Given the description of an element on the screen output the (x, y) to click on. 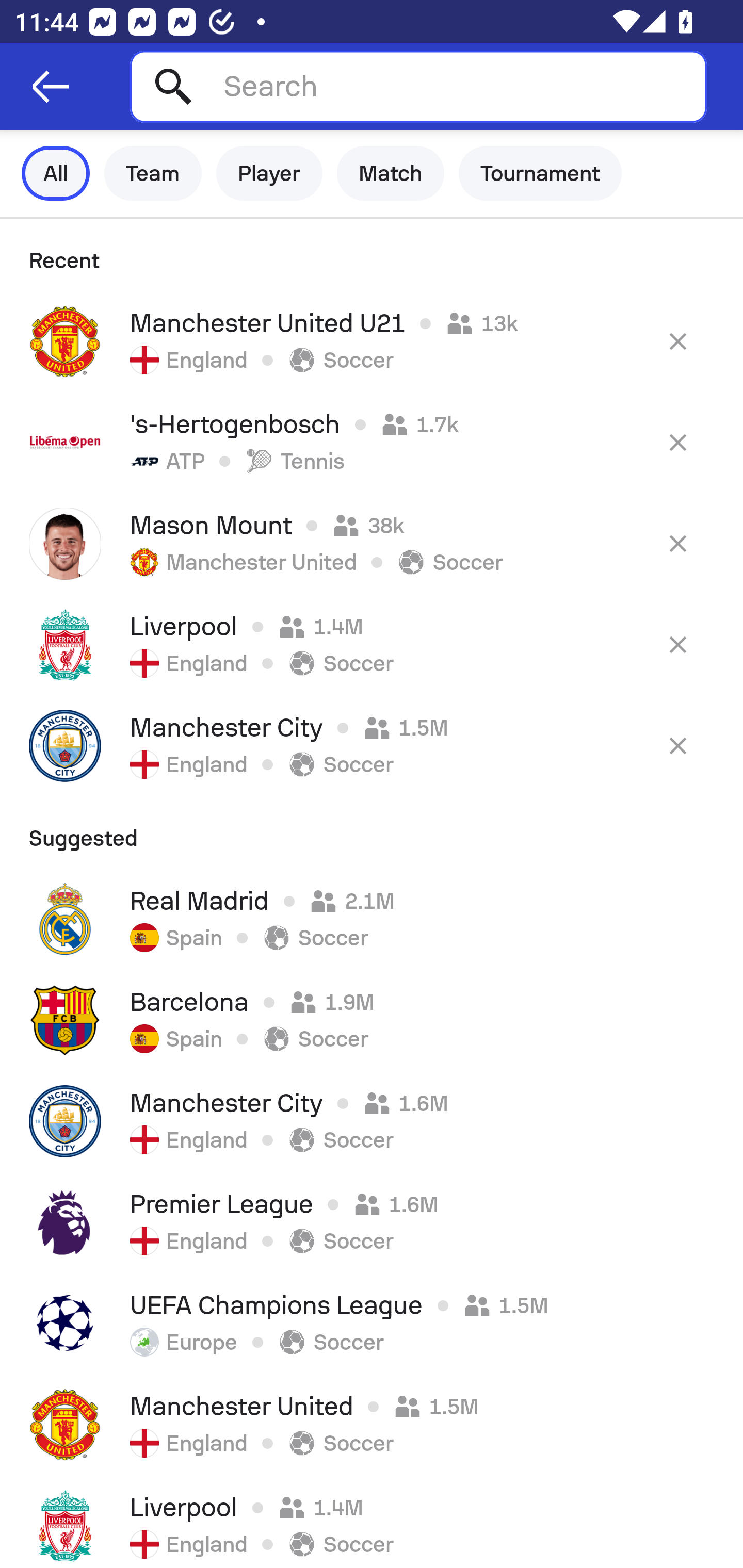
Navigate up (50, 86)
Search (418, 86)
All (55, 172)
Team (152, 172)
Player (268, 172)
Match (390, 172)
Tournament (540, 172)
Recent (371, 254)
Manchester United U21 13k England Soccer (371, 341)
's-Hertogenbosch 1.7k ATP Tennis (371, 442)
Mason Mount 38k Manchester United Soccer (371, 543)
Liverpool 1.4M England Soccer (371, 644)
Manchester City 1.5M England Soccer (371, 745)
Suggested (371, 832)
Real Madrid 2.1M Spain Soccer (371, 918)
Barcelona 1.9M Spain Soccer (371, 1019)
Manchester City 1.6M England Soccer (371, 1120)
Premier League 1.6M England Soccer (371, 1222)
UEFA Champions League 1.5M Europe Soccer (371, 1323)
Manchester United 1.5M England Soccer (371, 1424)
Liverpool 1.4M England Soccer (371, 1521)
